Given the description of an element on the screen output the (x, y) to click on. 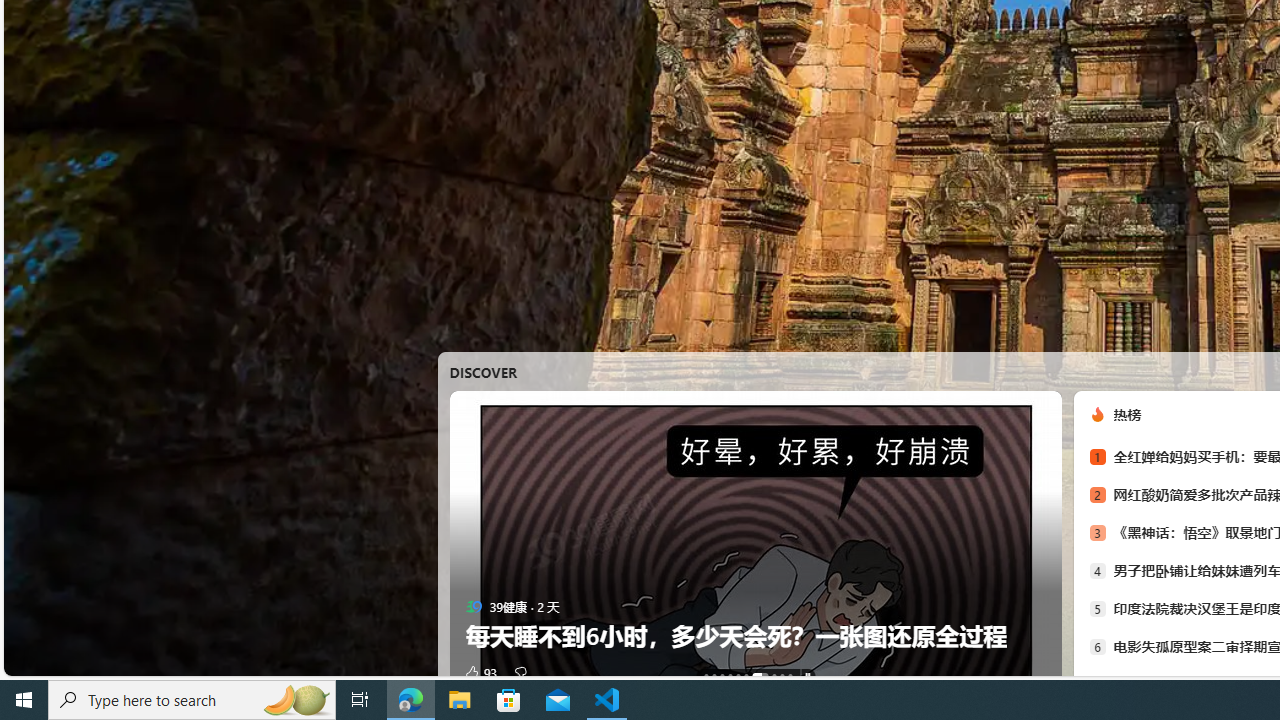
AutomationID: tab-4 (737, 675)
AutomationID: tab-8 (781, 675)
AutomationID: tab-1 (714, 675)
AutomationID: tab-2 (721, 675)
AutomationID: tab-5 (746, 675)
AutomationID: tab-9 (789, 675)
AutomationID: tab-7 (774, 675)
AutomationID: tab-3 (729, 675)
AutomationID: tab-6 (760, 675)
